Given the description of an element on the screen output the (x, y) to click on. 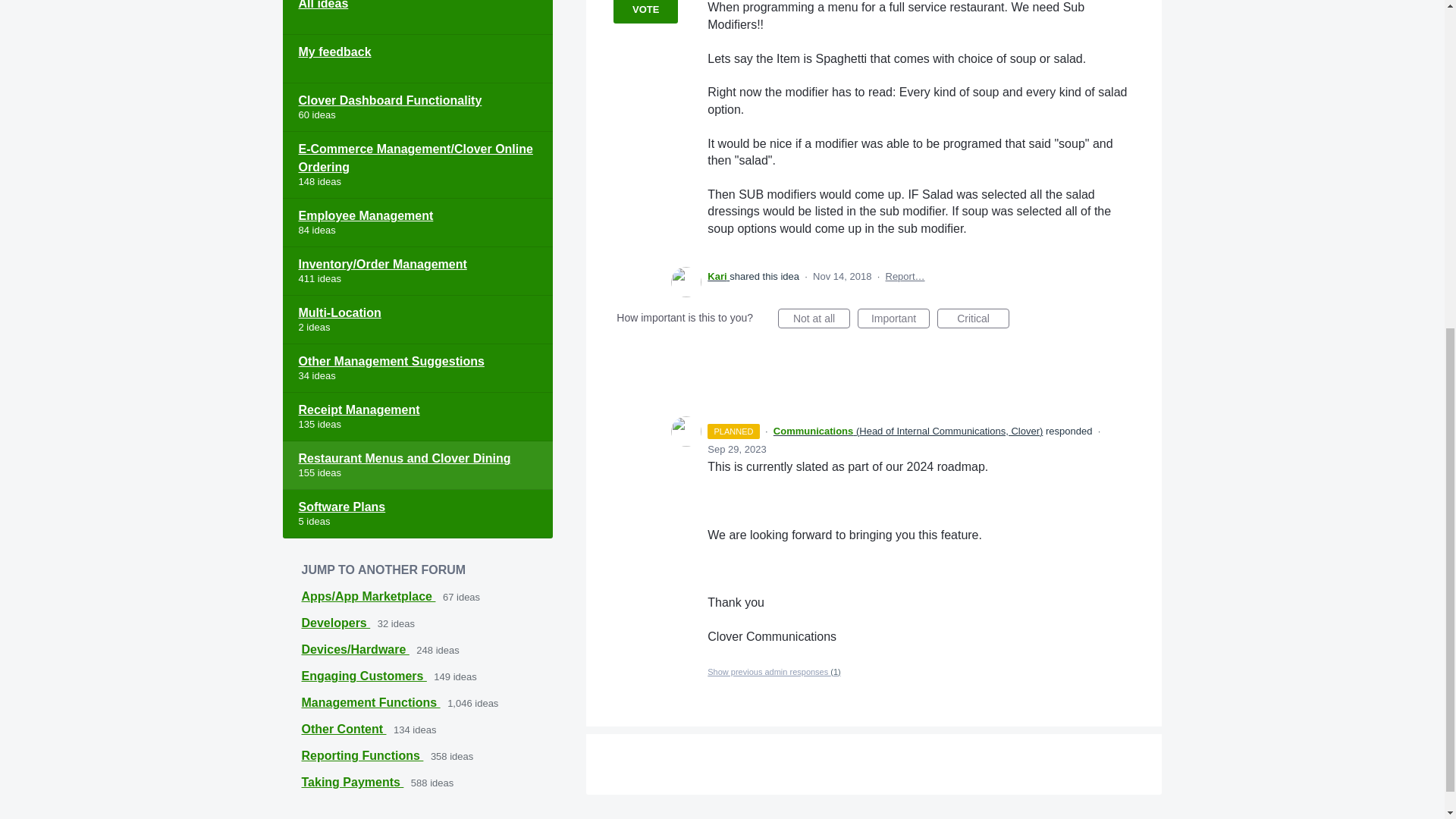
Other Content (344, 728)
Taking Payments (352, 781)
View all ideas in category Multi-Location (417, 319)
Restaurant Menus and Clover Dining (417, 465)
Engaging Customers (363, 675)
View all ideas in category Employee Management (417, 223)
My feedback (417, 59)
Management Functions (371, 702)
All ideas (417, 17)
View all ideas in category Receipt Management (417, 417)
